Given the description of an element on the screen output the (x, y) to click on. 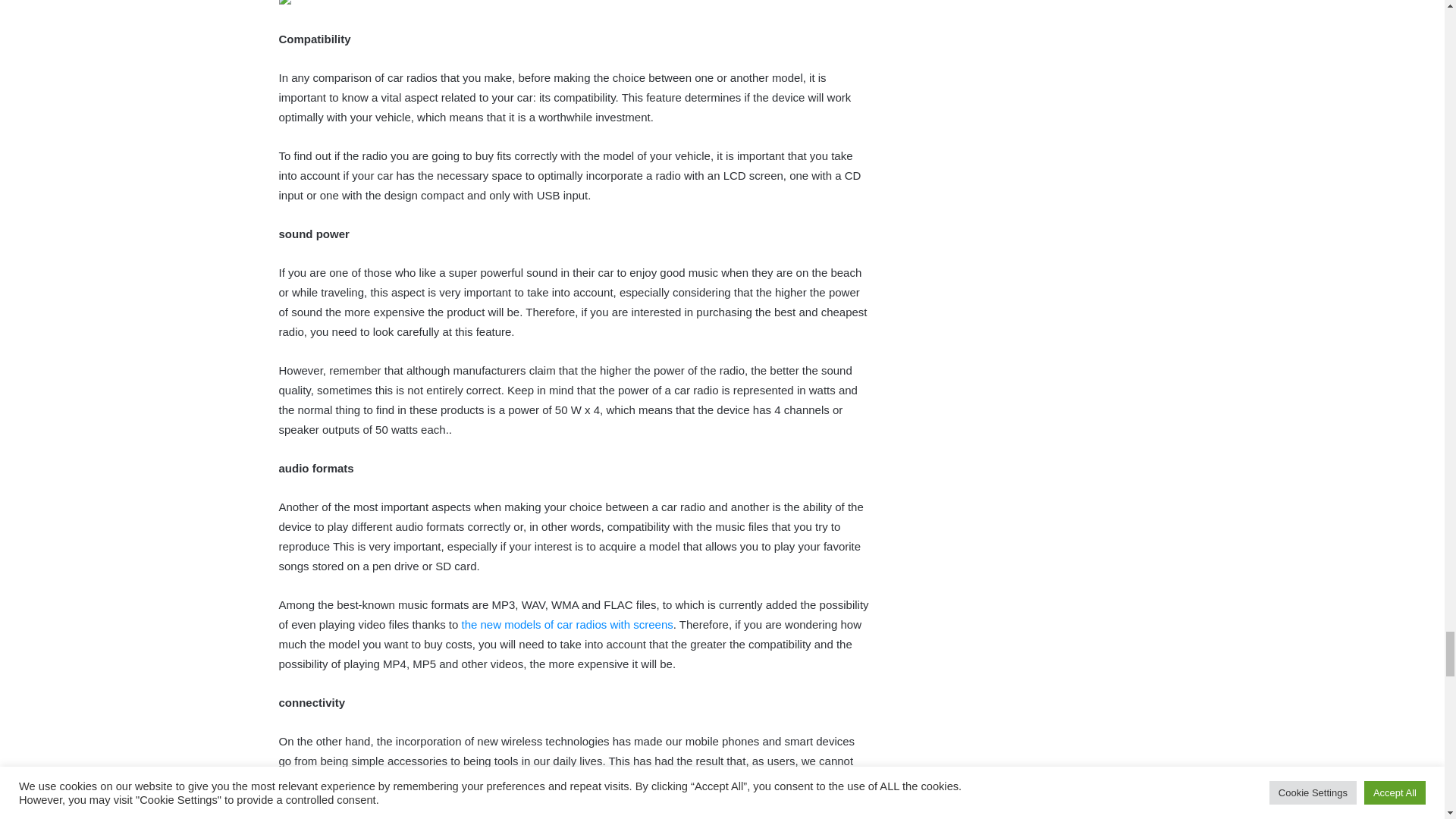
the new models of car radios with screens (566, 624)
